Given the description of an element on the screen output the (x, y) to click on. 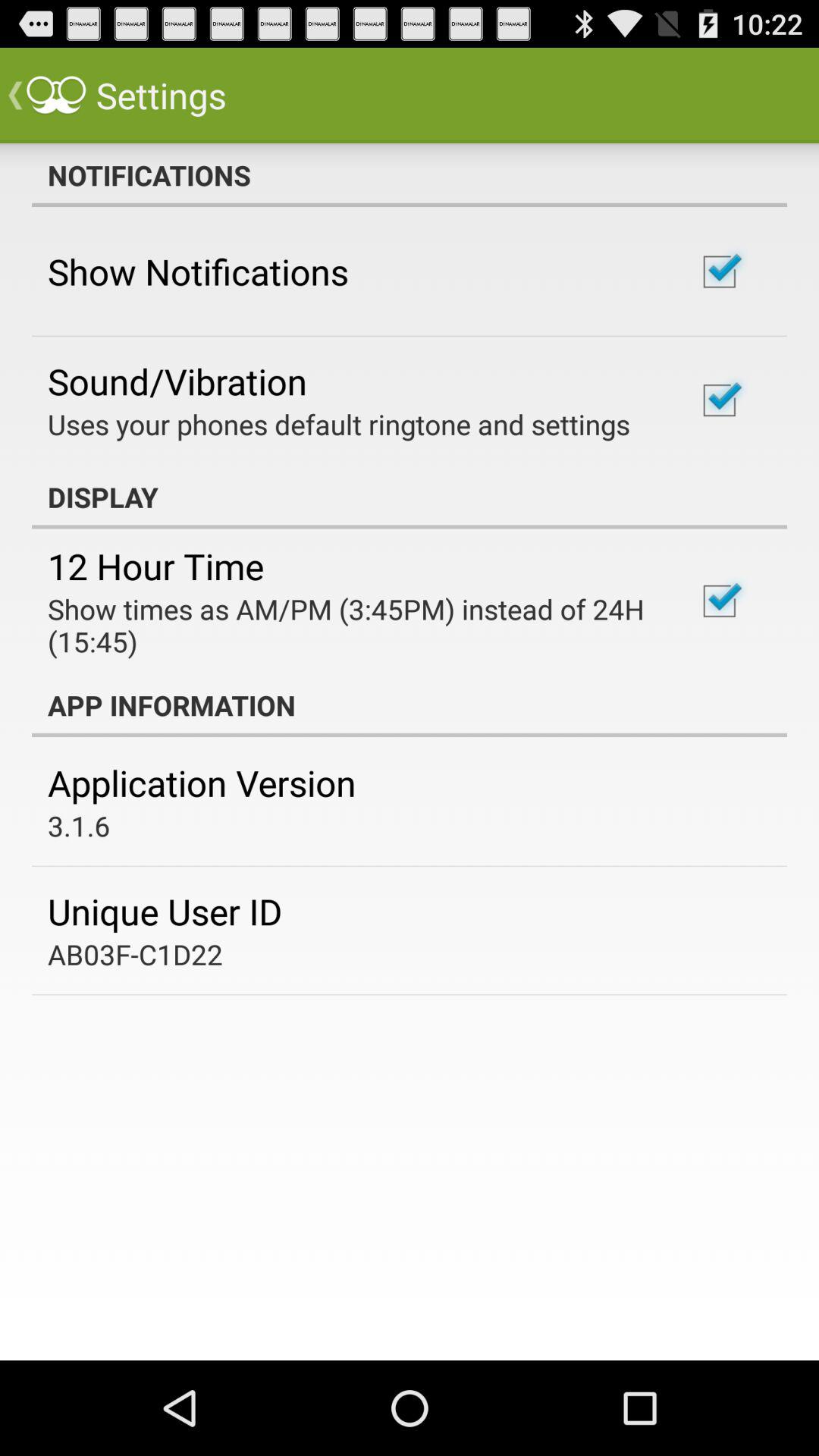
open item above app information item (351, 625)
